Given the description of an element on the screen output the (x, y) to click on. 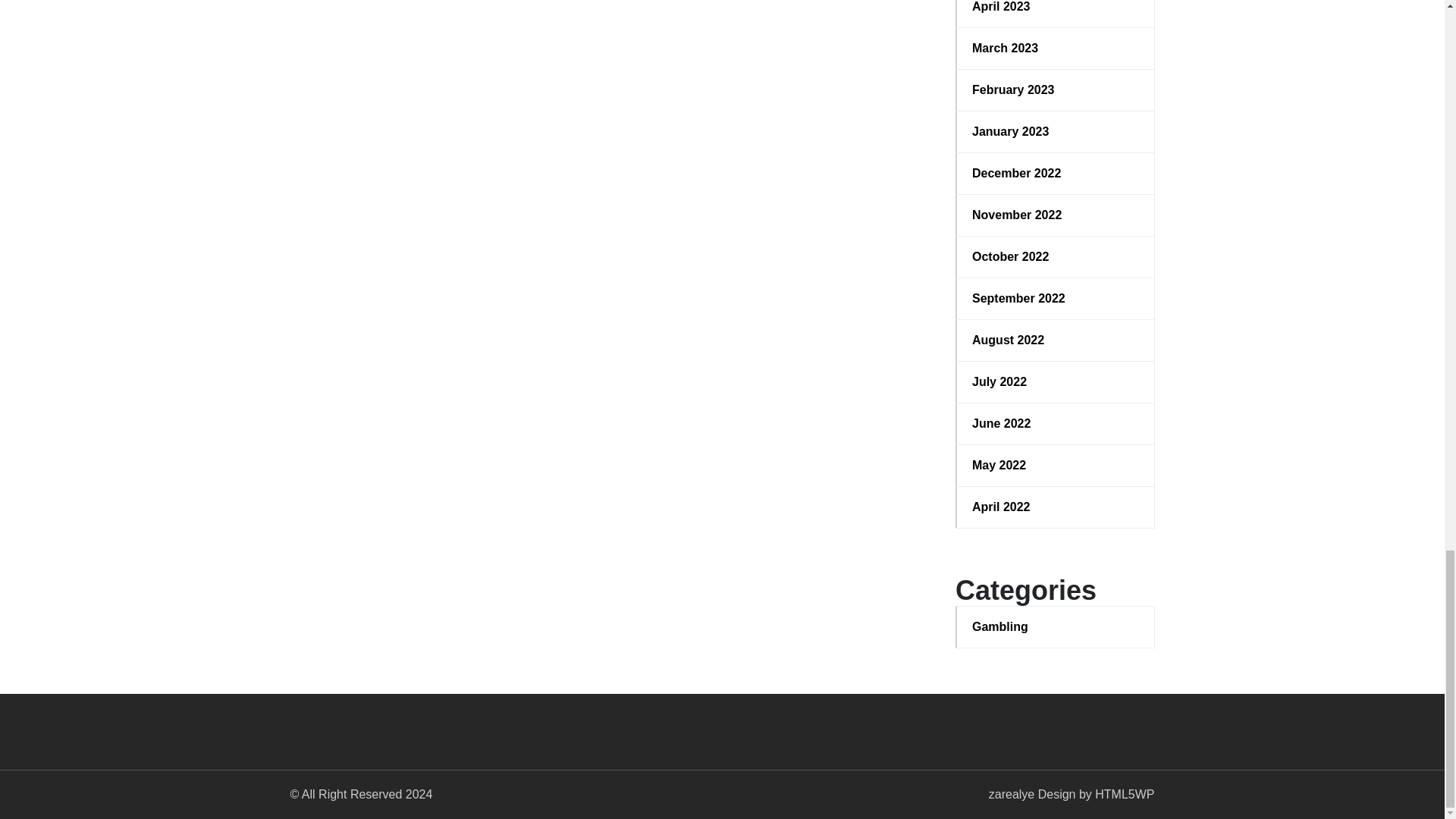
November 2022 (1055, 215)
September 2022 (1055, 298)
March 2023 (1055, 48)
December 2022 (1055, 173)
April 2023 (1055, 7)
August 2022 (1055, 340)
February 2023 (1055, 90)
October 2022 (1055, 257)
January 2023 (1055, 131)
